Given the description of an element on the screen output the (x, y) to click on. 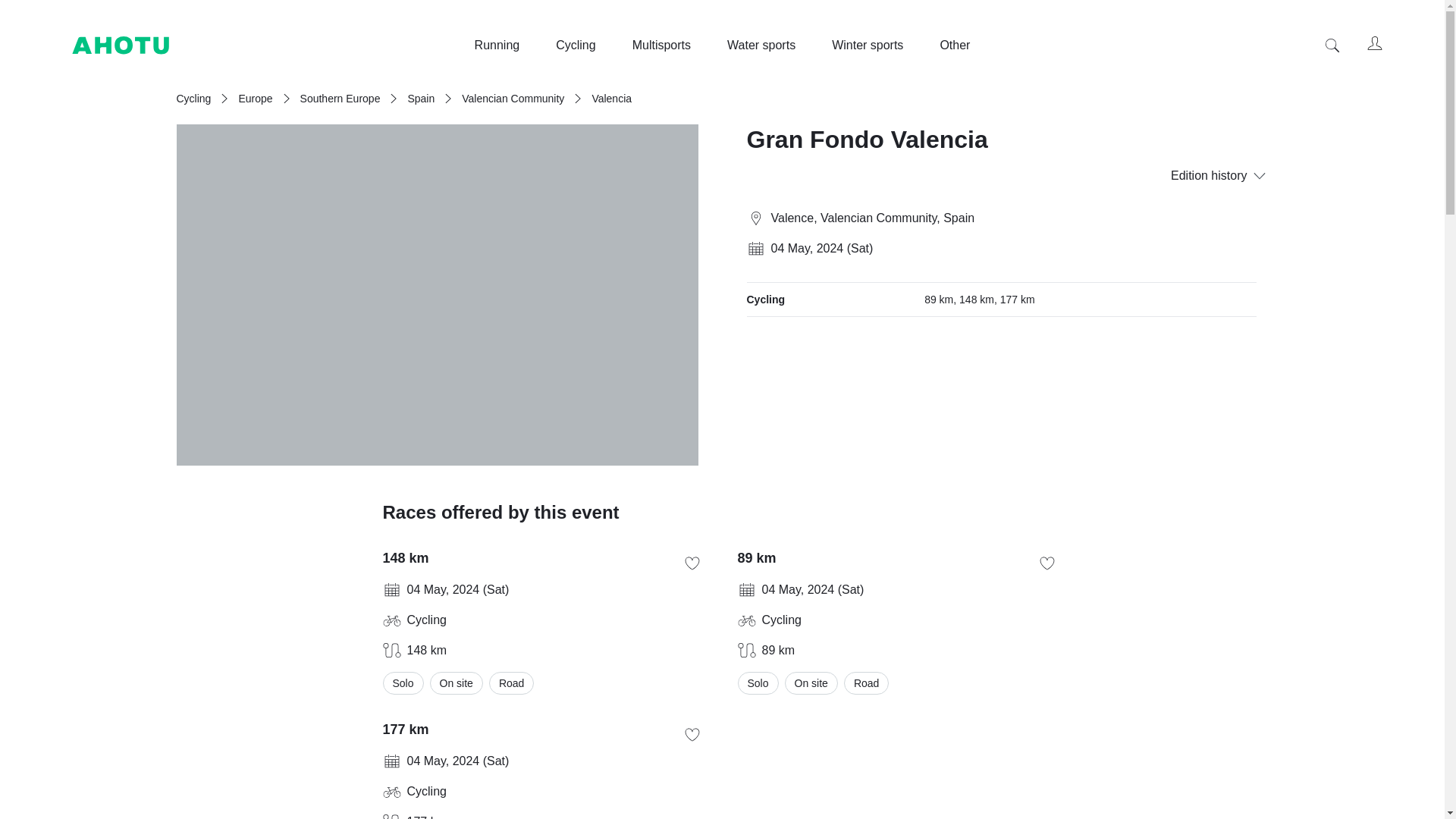
Valencia (611, 98)
Running (496, 45)
Cycling (193, 98)
Valence (791, 217)
Edition history (1211, 176)
Spain (420, 98)
Multisports (660, 45)
Winter sports (866, 45)
Cycling (575, 45)
Europe (255, 98)
